Given the description of an element on the screen output the (x, y) to click on. 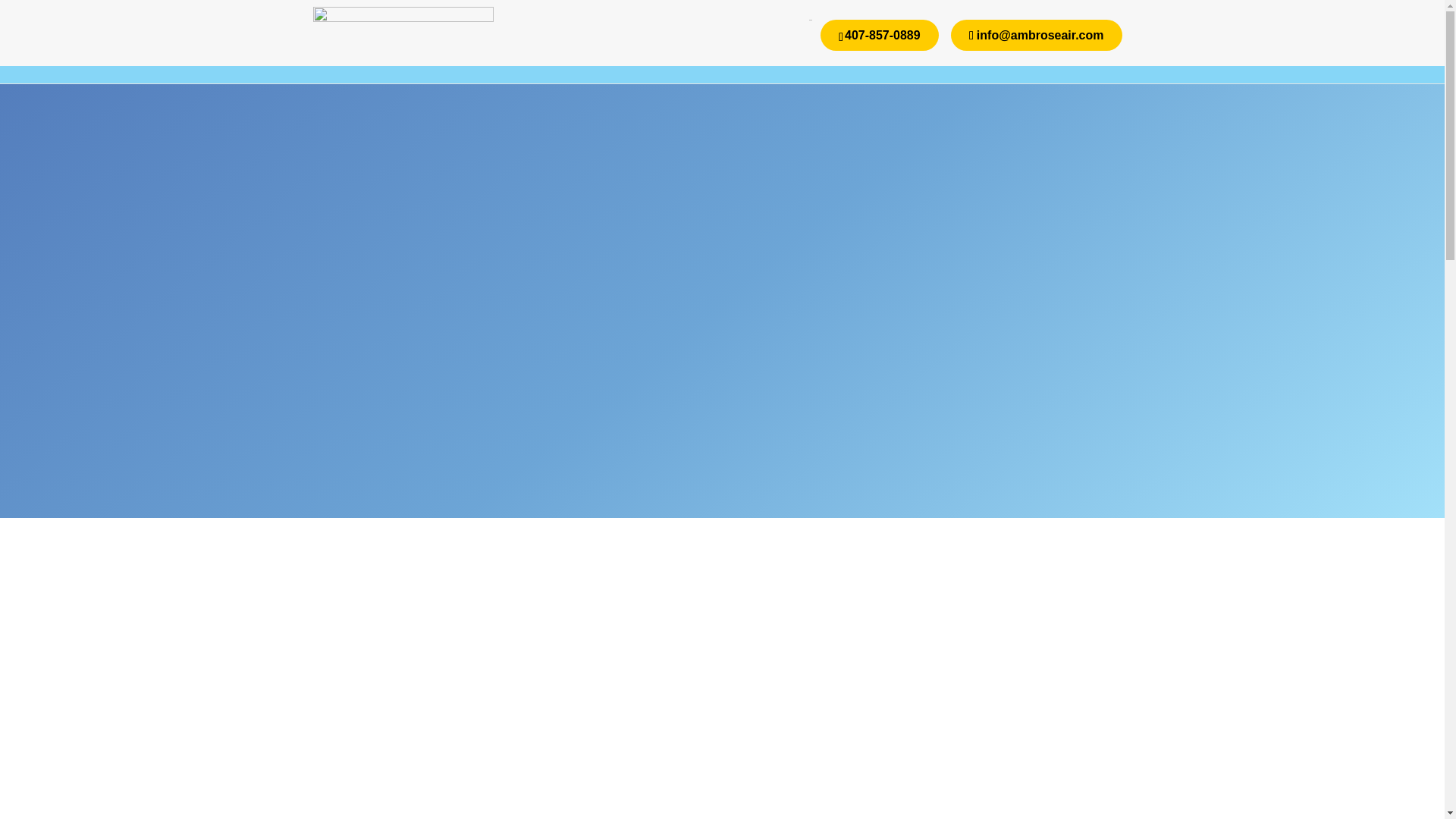
wpforms-submit (865, 399)
ABOUT (476, 65)
BLOG (824, 65)
CONTACT US (1011, 65)
REVIEWS (899, 65)
COMMERCIAL (588, 65)
HOME (399, 65)
RESIDENTIAL (725, 65)
